Given the description of an element on the screen output the (x, y) to click on. 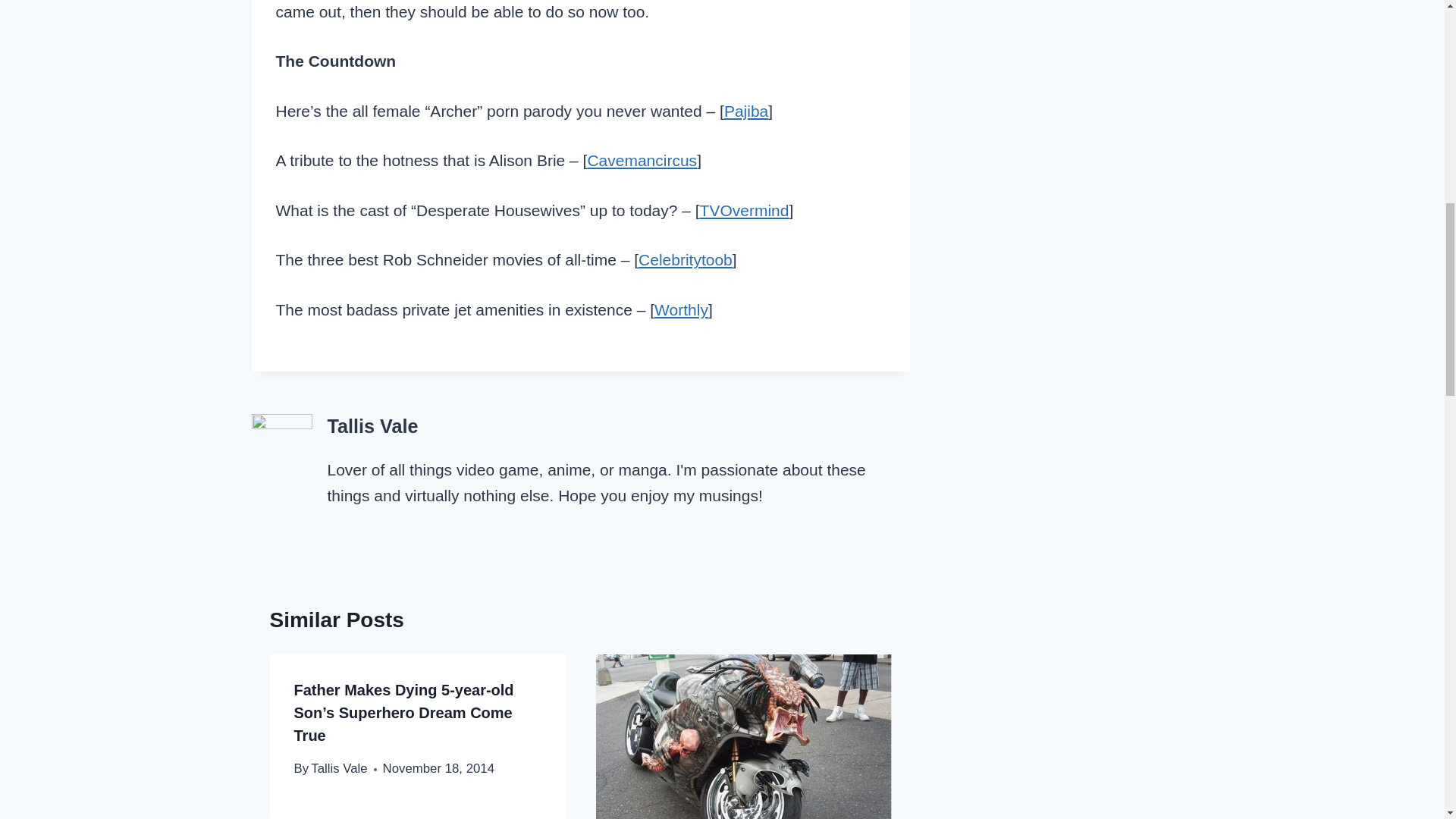
Worthly (680, 309)
Tallis Vale (373, 425)
Cavemancircus (641, 159)
Tallis Vale (338, 768)
Pajiba (745, 110)
Posts by Tallis Vale (373, 425)
Celebritytoob (685, 259)
TVOvermind (744, 210)
